Given the description of an element on the screen output the (x, y) to click on. 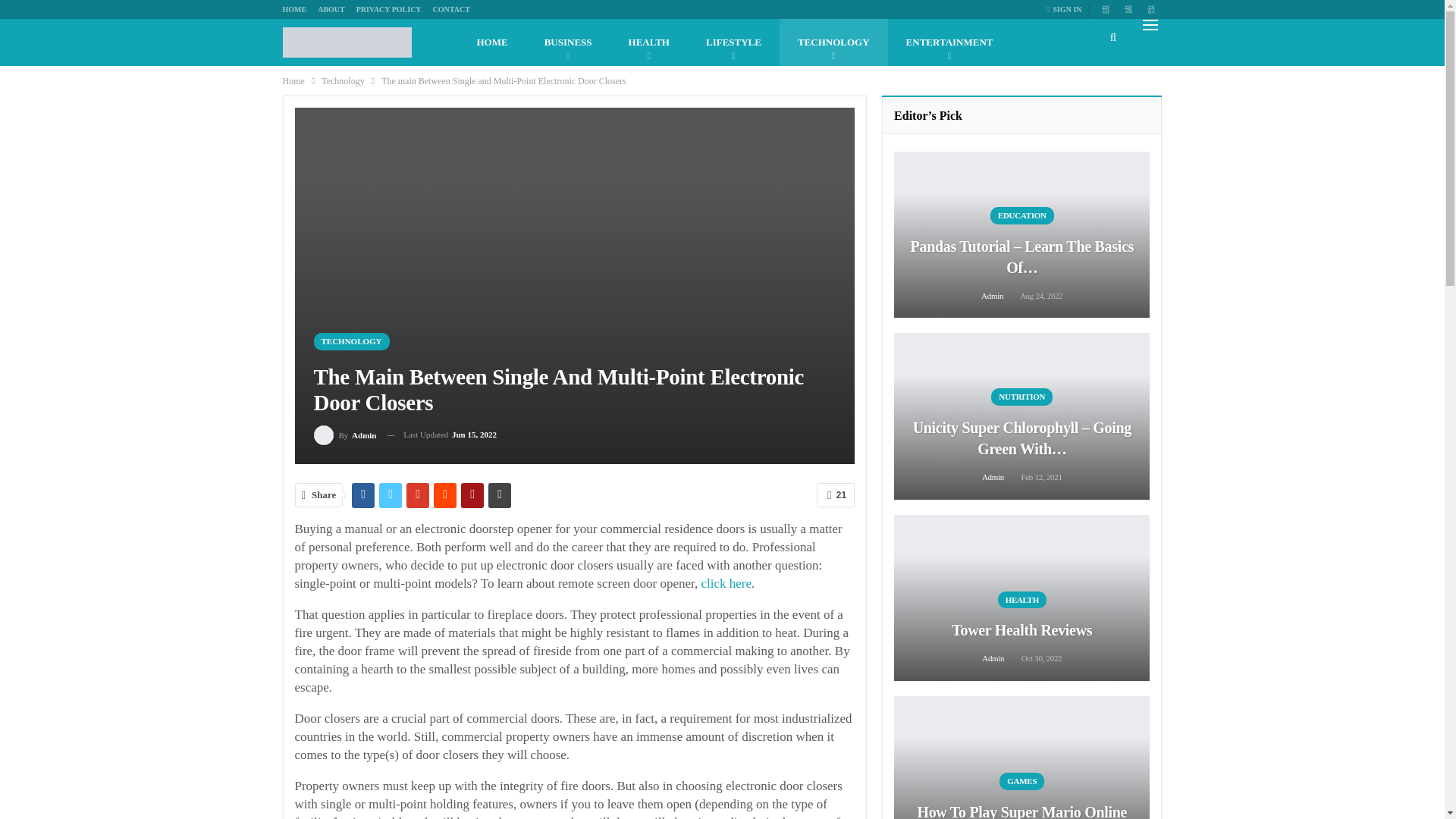
CONTACT (451, 8)
HEALTH (648, 42)
Browse Author Articles (345, 435)
LIFESTYLE (732, 42)
BUSINESS (567, 42)
SIGN IN (1066, 9)
HOME (491, 42)
ABOUT (331, 8)
TECHNOLOGY (833, 42)
